Given the description of an element on the screen output the (x, y) to click on. 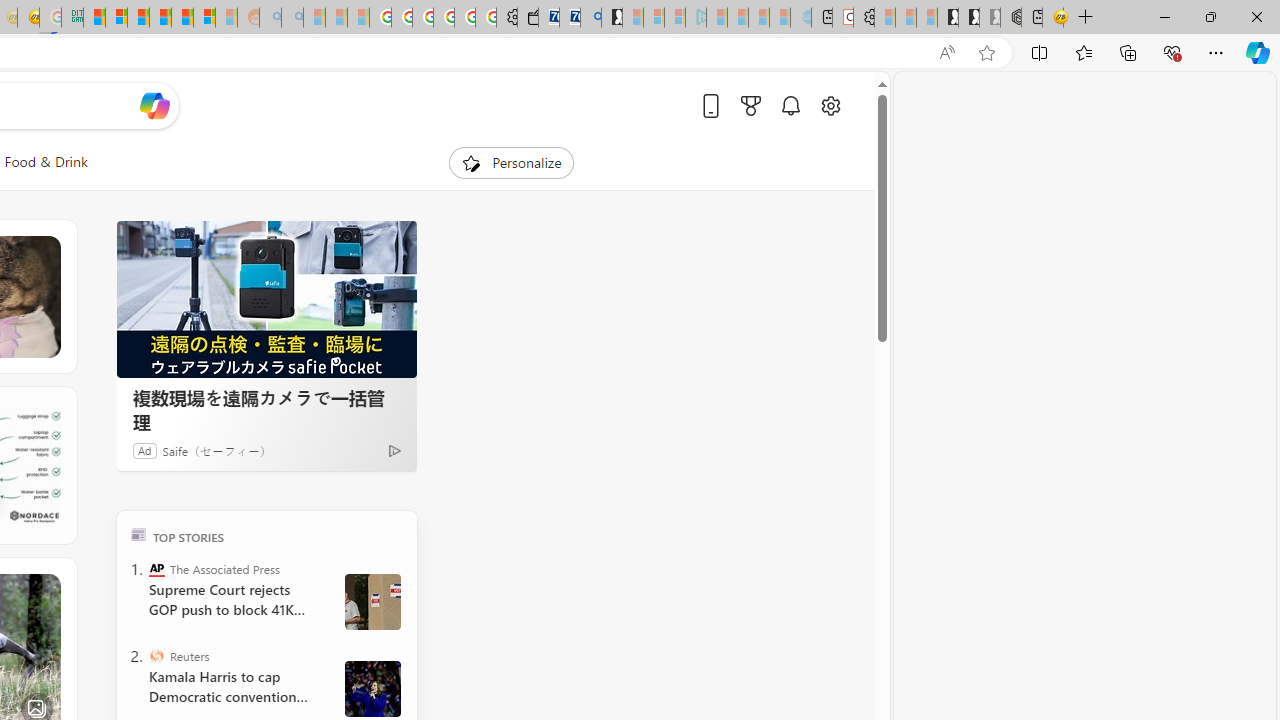
The Associated Press (156, 568)
Expert Portfolios (160, 17)
